Given the description of an element on the screen output the (x, y) to click on. 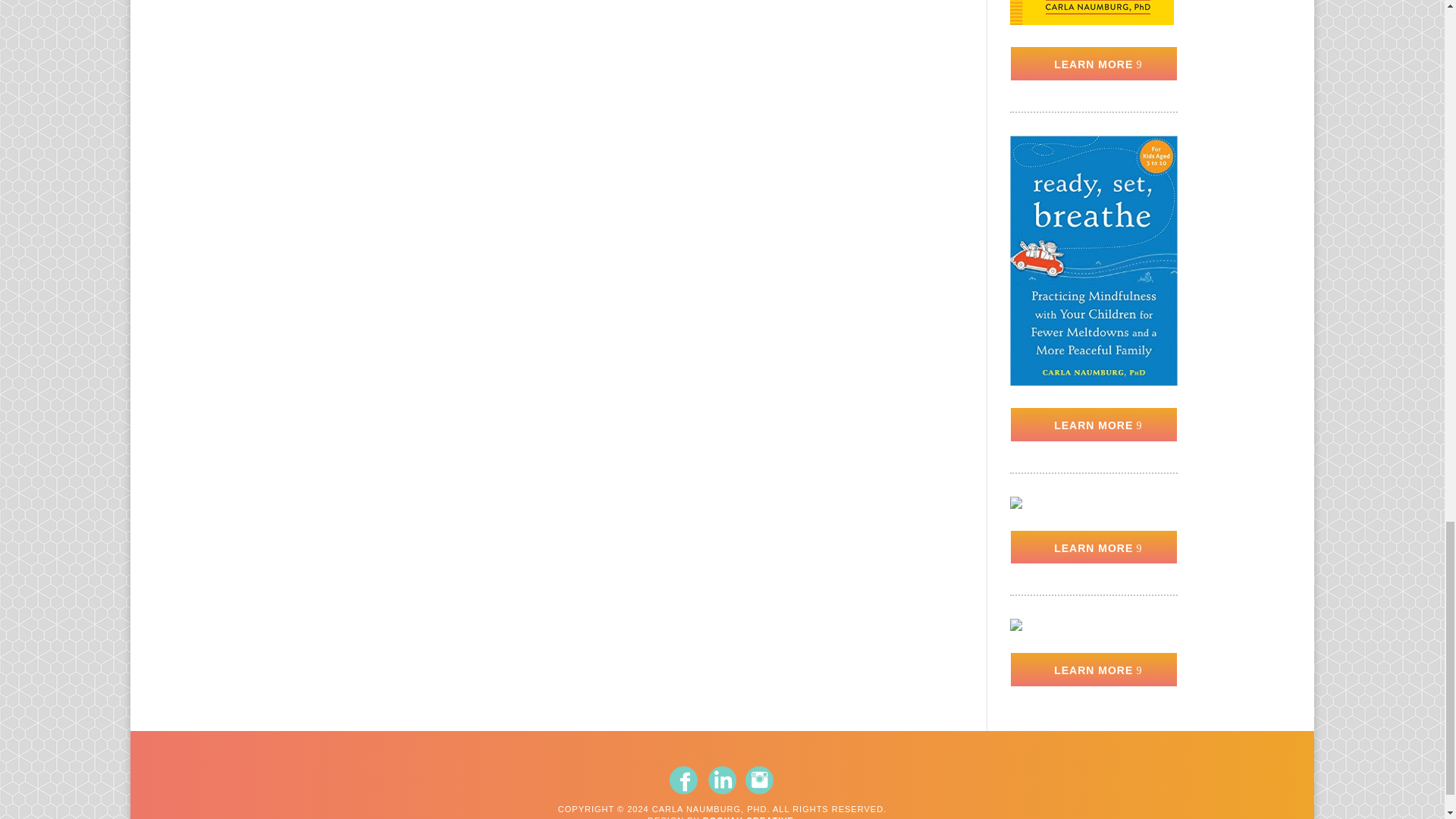
LEARN MORE (1093, 547)
LEARN MORE (1093, 424)
LEARN MORE (1093, 63)
LEARN MORE (1093, 669)
